Given the description of an element on the screen output the (x, y) to click on. 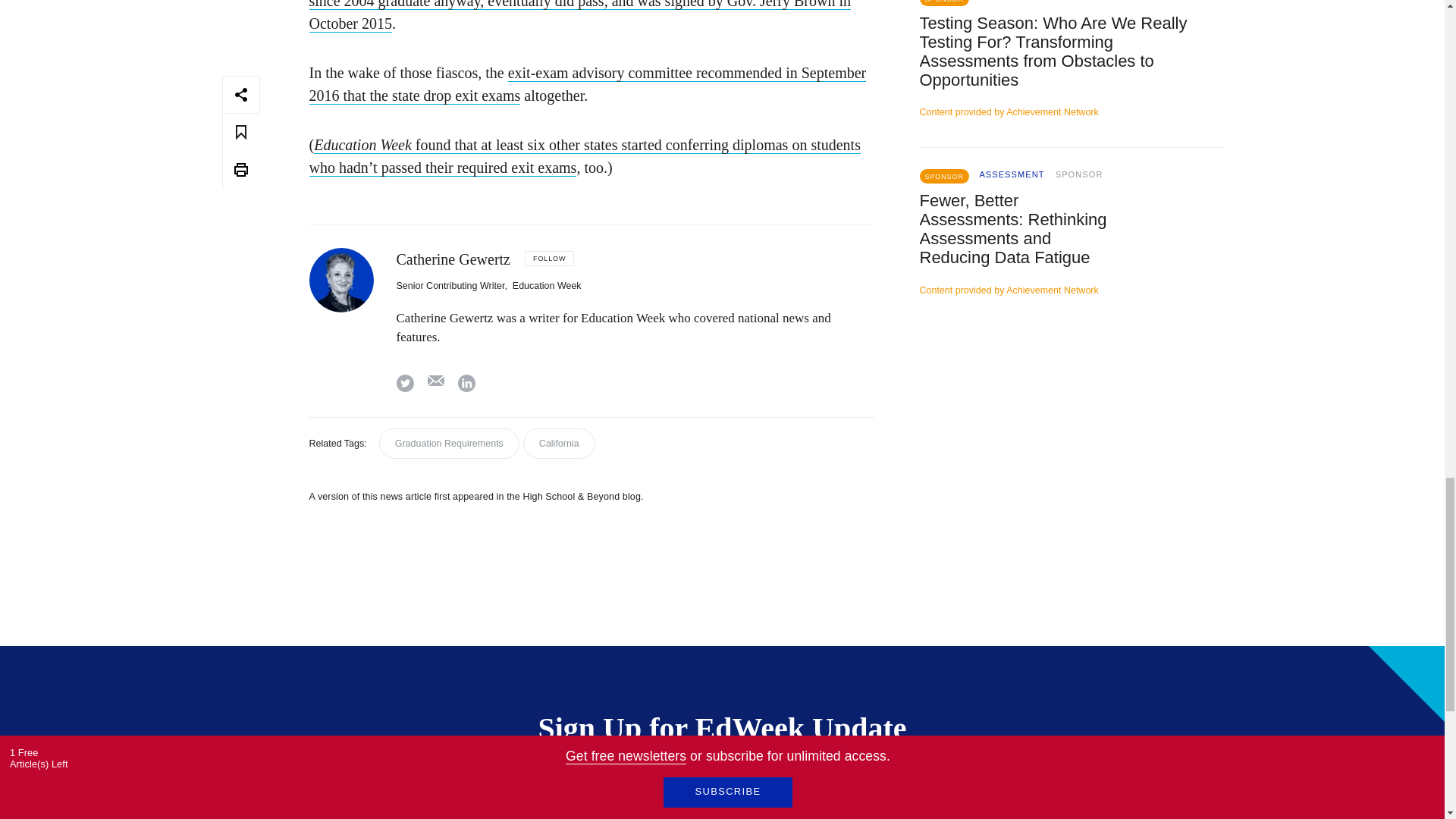
3rd party ad content (1070, 452)
